Given the description of an element on the screen output the (x, y) to click on. 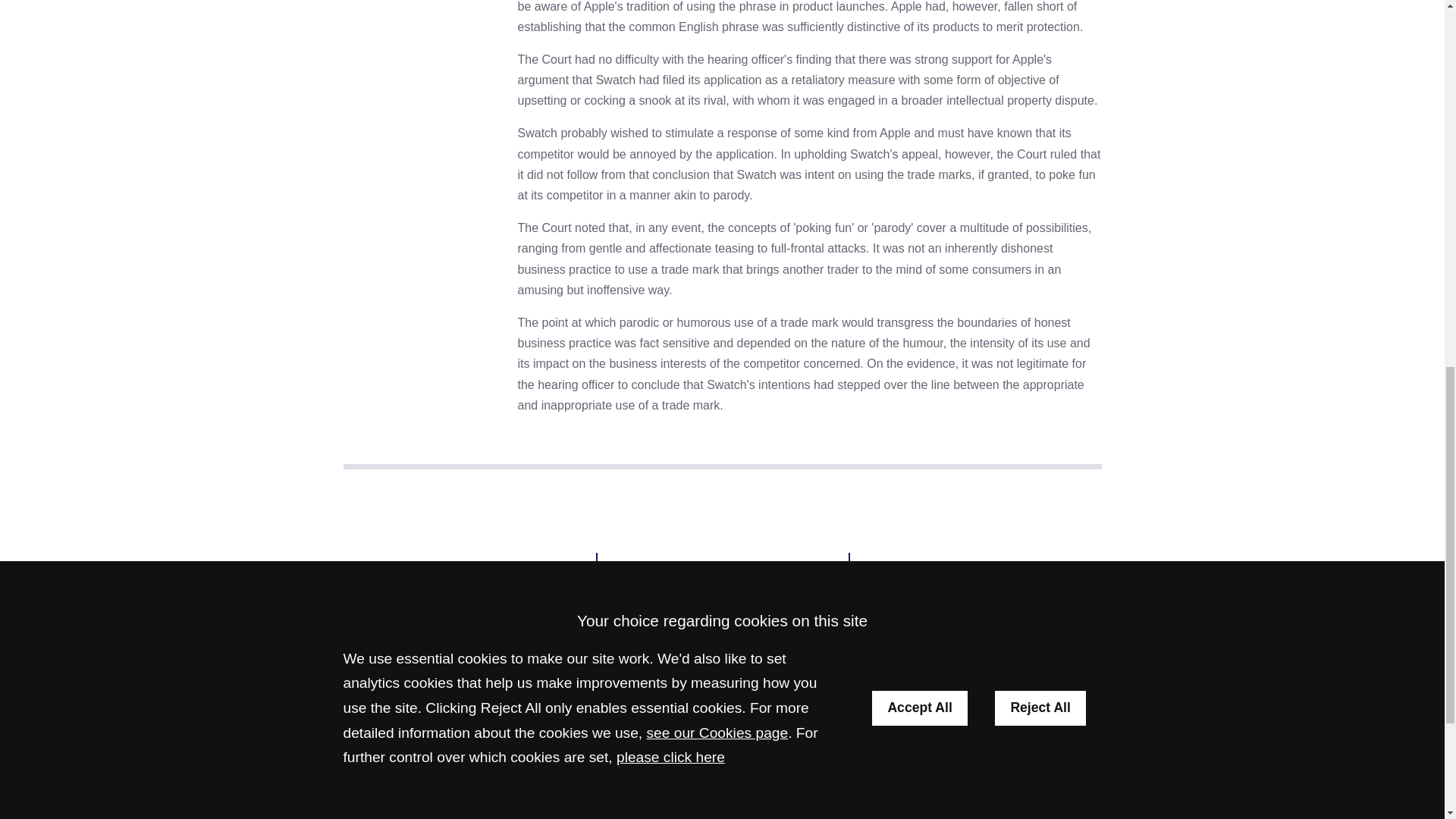
Call us today on 0117 9094000 (469, 604)
Make an enquiry (721, 567)
Get a conveyancing quote (975, 567)
